Given the description of an element on the screen output the (x, y) to click on. 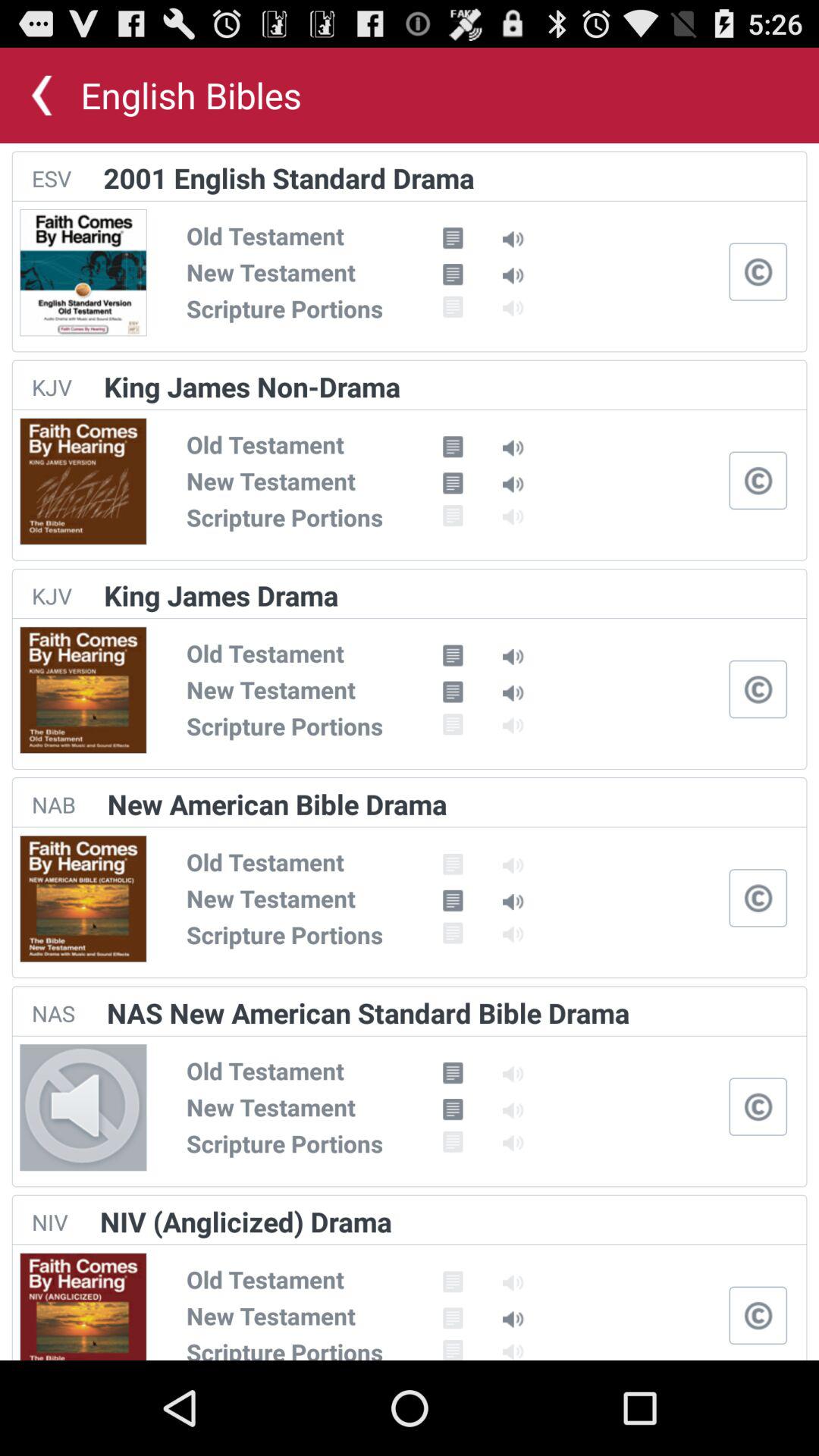
swipe until nab icon (53, 804)
